Given the description of an element on the screen output the (x, y) to click on. 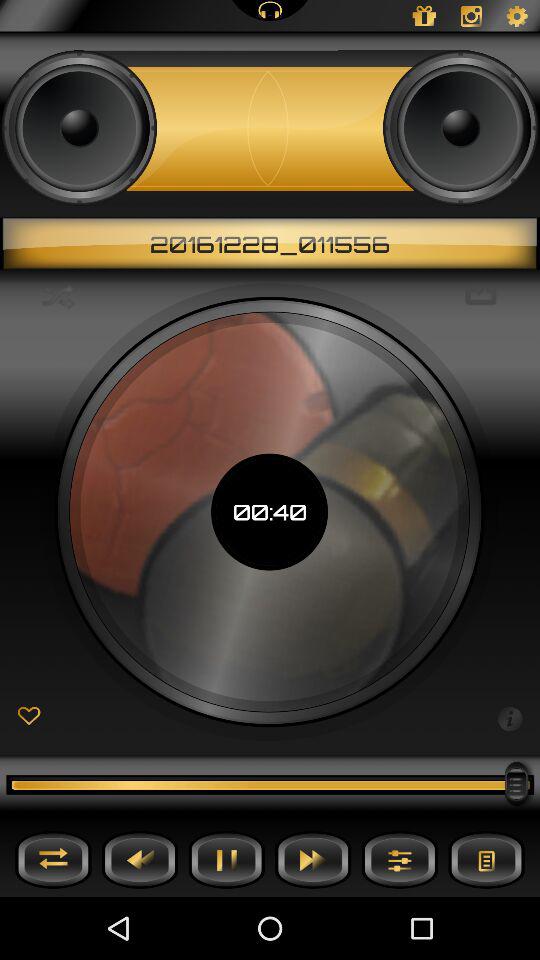
favorate button (28, 716)
